Given the description of an element on the screen output the (x, y) to click on. 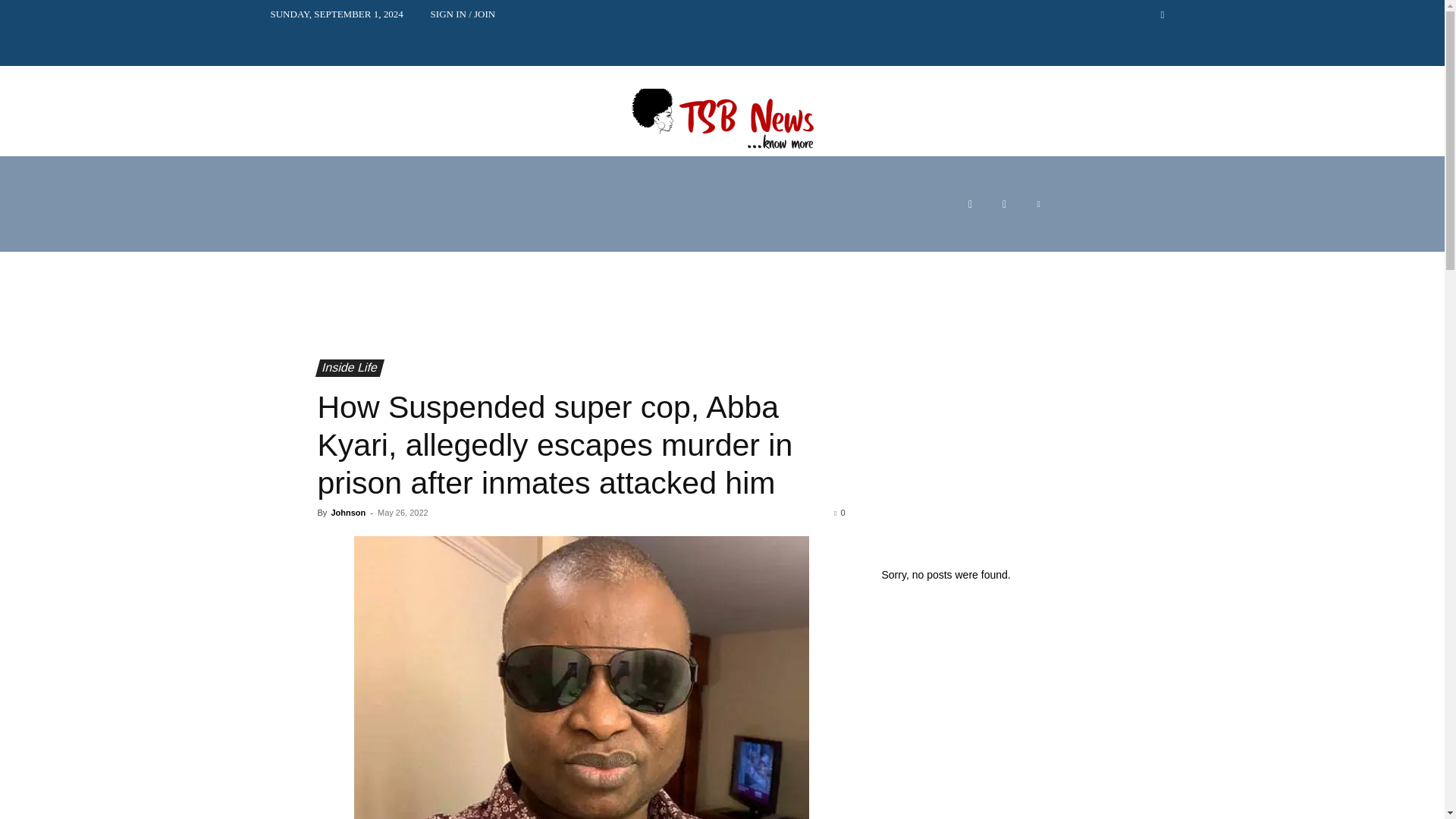
0 (839, 511)
Inside Life (346, 367)
Johnson (347, 511)
Twitter (1038, 203)
Instagram (1004, 203)
Facebook (970, 203)
